Given the description of an element on the screen output the (x, y) to click on. 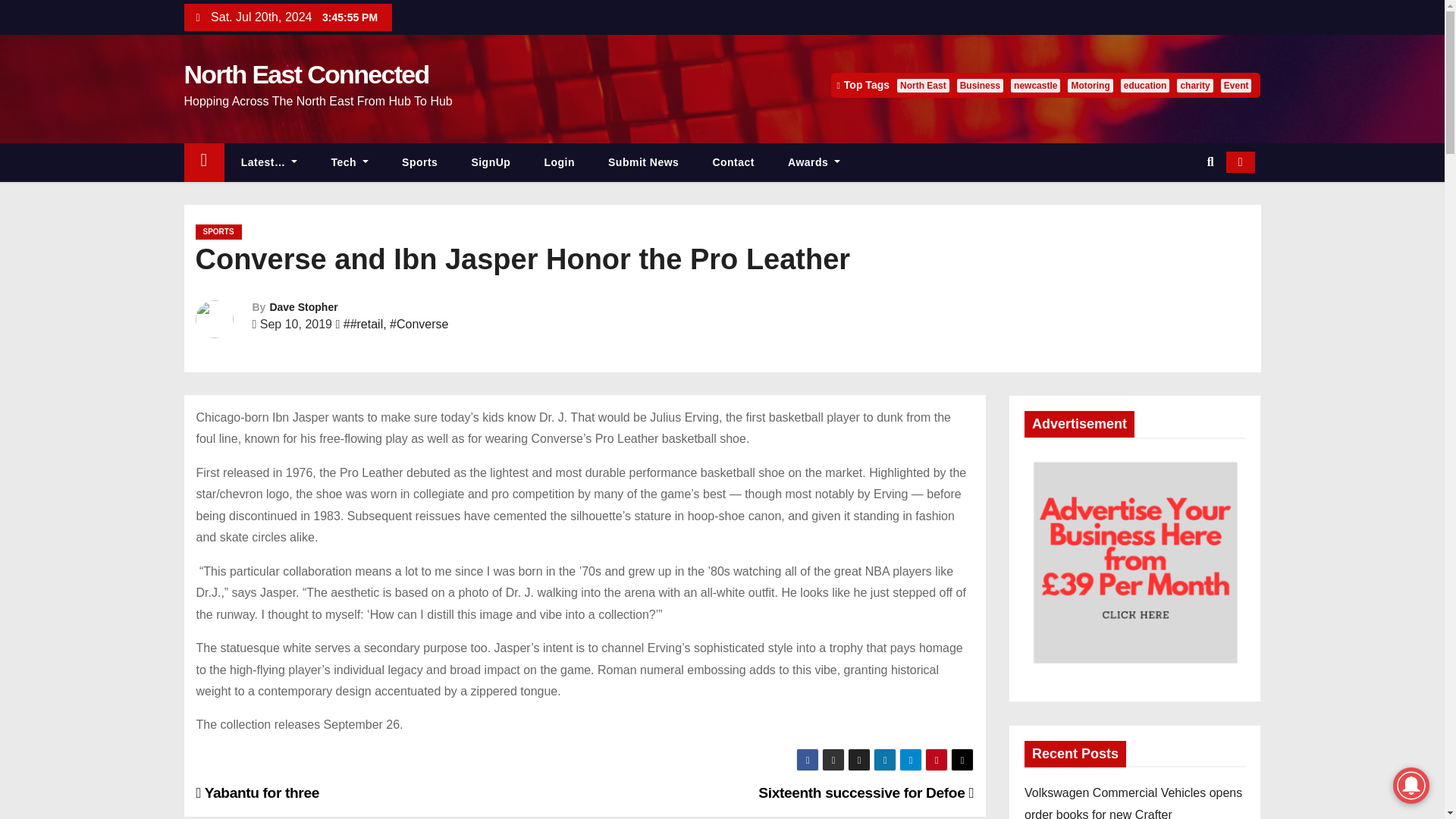
Tech (349, 162)
Dave Stopher (303, 306)
education (1145, 85)
SignUp (490, 162)
Business (979, 85)
North East Connected (305, 73)
North East (922, 85)
Sports (419, 162)
Login (559, 162)
Tech (349, 162)
newcastle (1034, 85)
Sports (419, 162)
charity (1194, 85)
Contact (733, 162)
Submit News (643, 162)
